Given the description of an element on the screen output the (x, y) to click on. 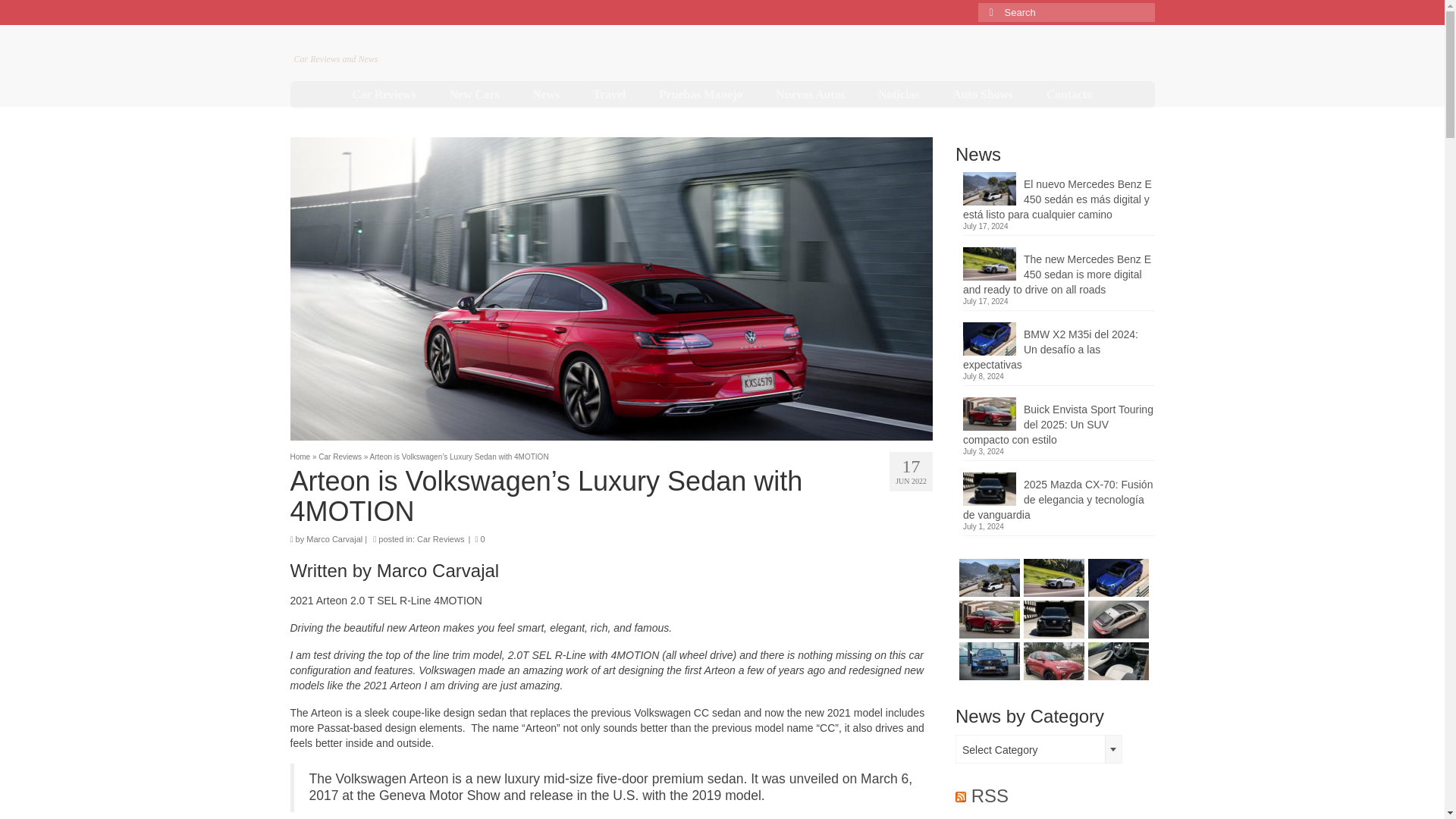
Car Reviews (440, 538)
Noticias (898, 94)
0 (479, 538)
Auto Shows (982, 94)
Home (299, 456)
Marco Carvajal (333, 538)
Pruebas Manejo (700, 94)
News (545, 94)
AutomotorNevada.com (401, 42)
Travel (609, 94)
Contacto (1069, 94)
New Cars (474, 94)
Car Reviews (383, 94)
Nuevos Autos (810, 94)
Car Reviews (339, 456)
